Given the description of an element on the screen output the (x, y) to click on. 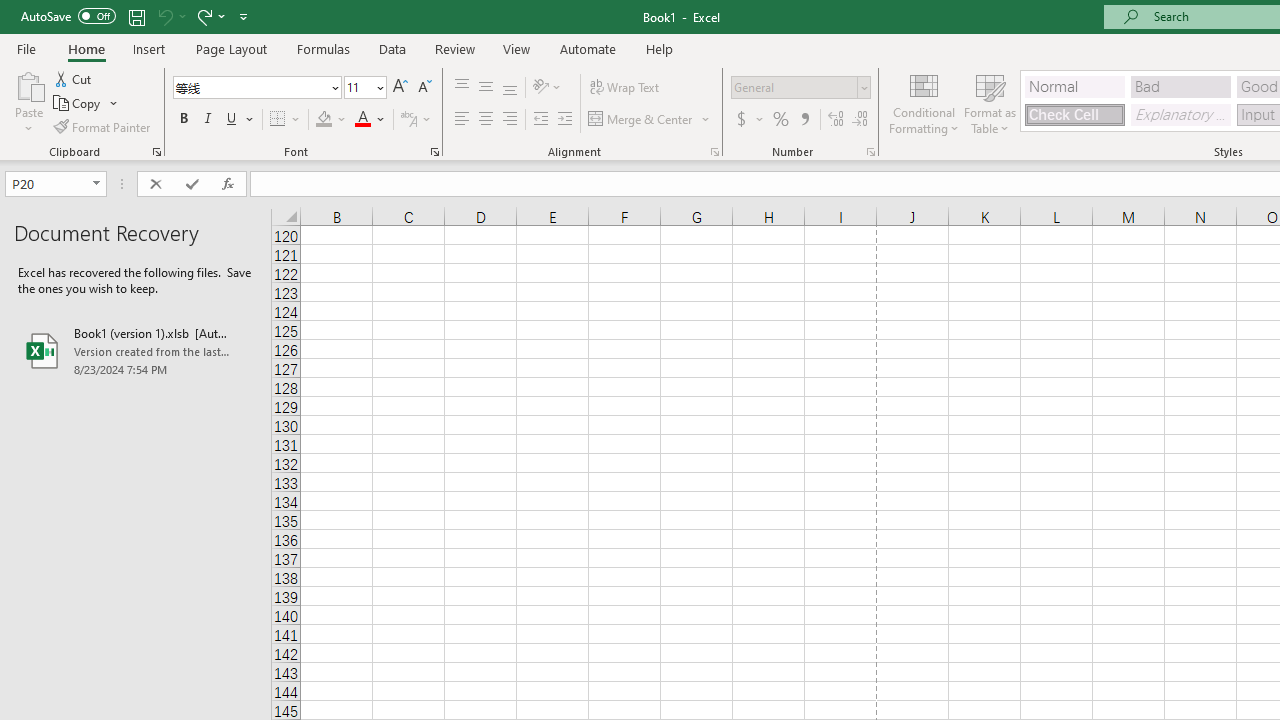
Decrease Indent (540, 119)
Font (250, 87)
Decrease Font Size (424, 87)
Check Cell (1074, 114)
Increase Decimal (836, 119)
Number Format (800, 87)
Font (256, 87)
Format Cell Font (434, 151)
